Given the description of an element on the screen output the (x, y) to click on. 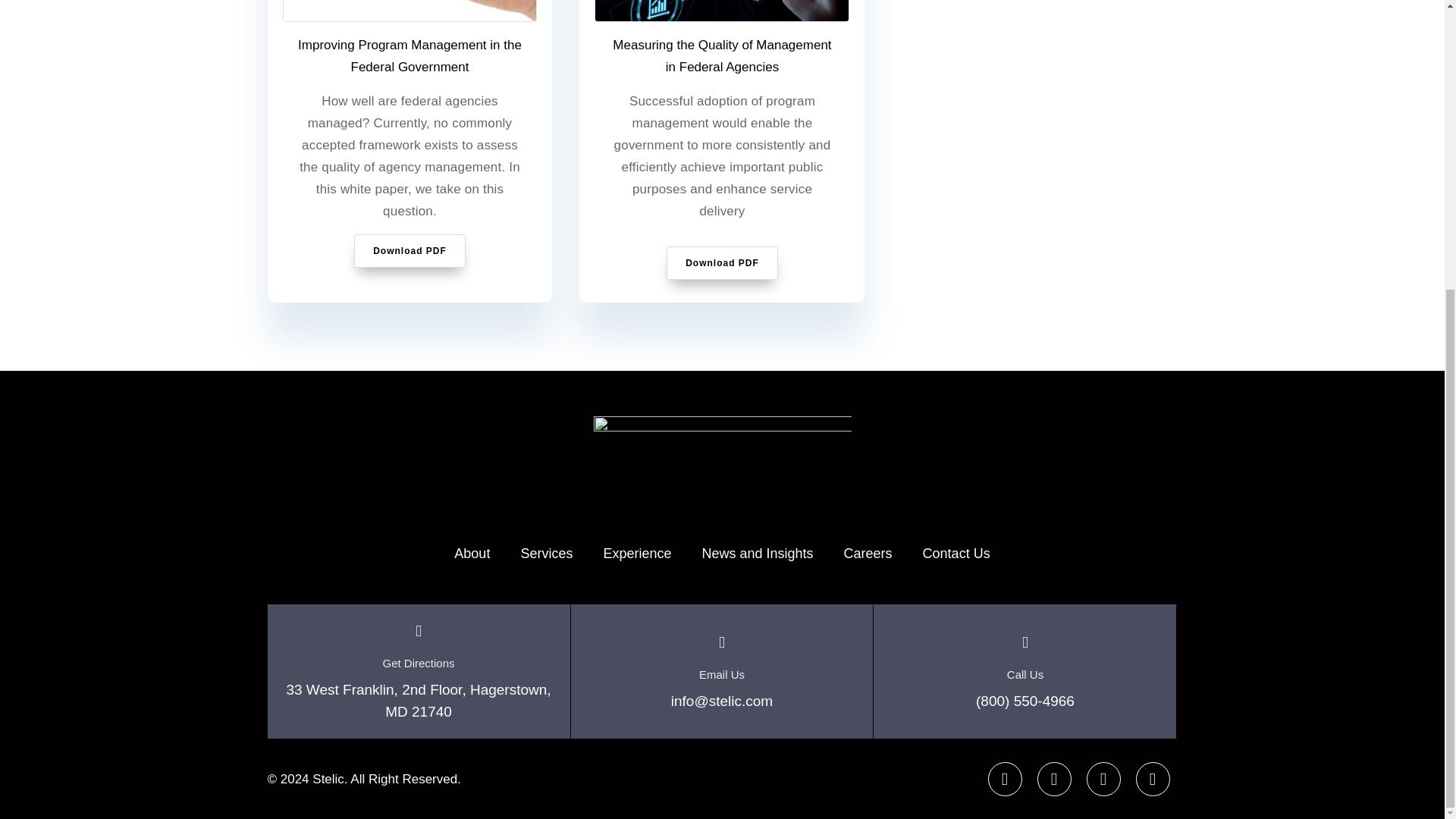
ft-logo (721, 456)
Experience (636, 553)
Download PDF (721, 263)
About (472, 553)
Improving-Program-Management-in-the-Federal-Government (410, 10)
Measuring-the-Quality-of-Management-in-Federal-Agencies (721, 10)
Download PDF (409, 250)
Services (546, 553)
